Given the description of an element on the screen output the (x, y) to click on. 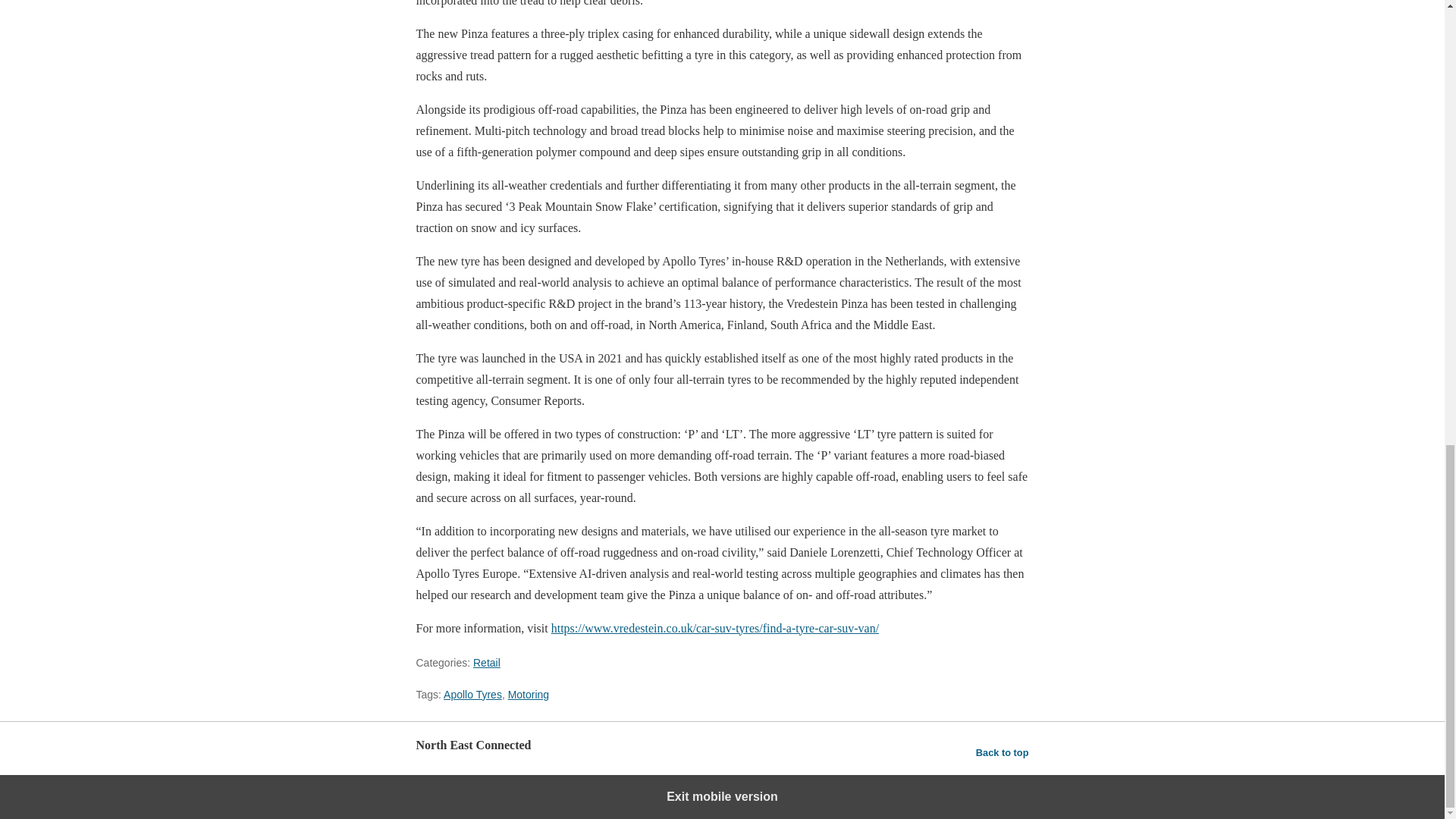
Motoring (528, 693)
Back to top (1002, 752)
Retail (486, 662)
Apollo Tyres (473, 693)
